Given the description of an element on the screen output the (x, y) to click on. 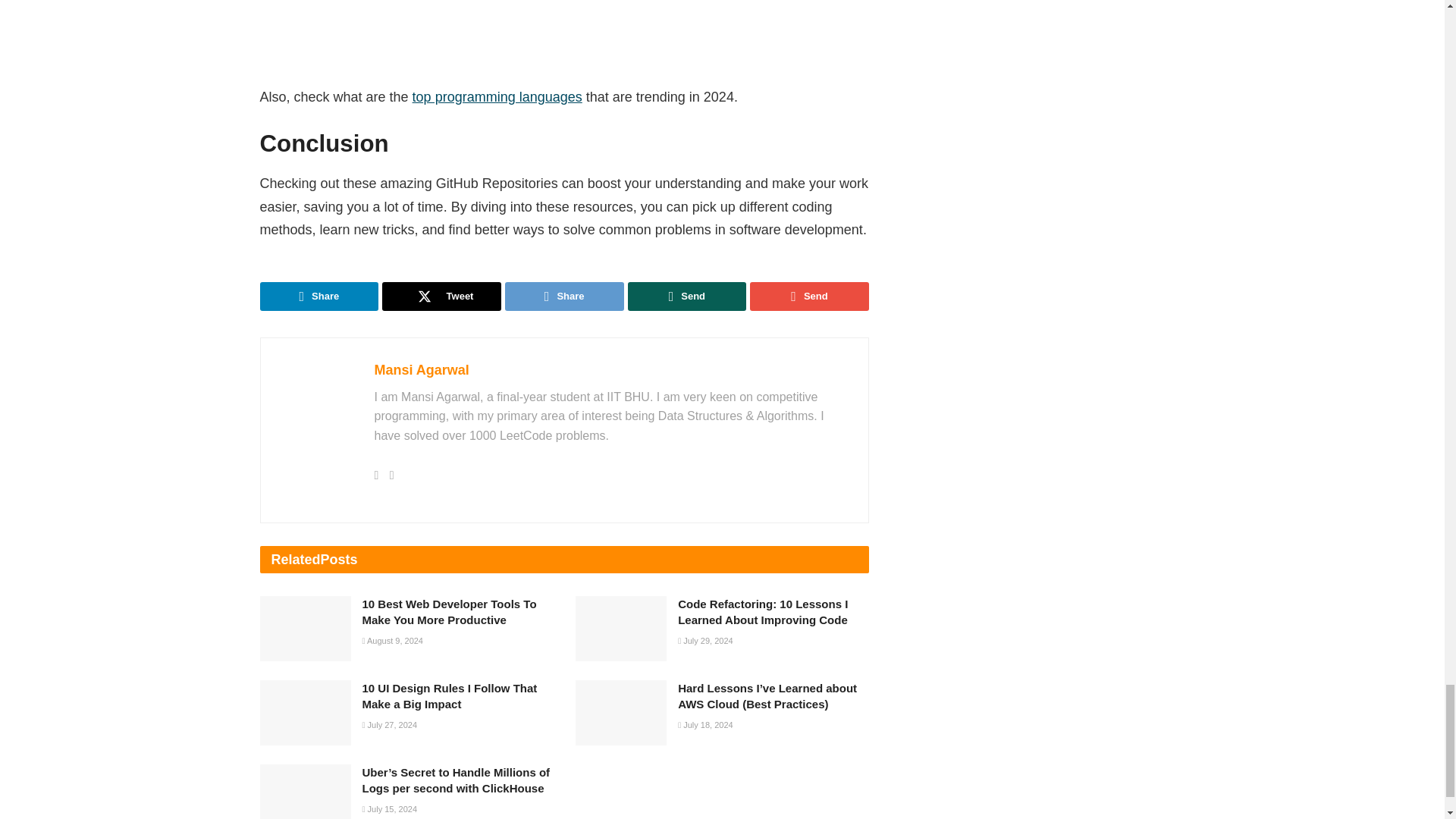
top programming languages (497, 96)
10 Best Web Developer Tools To Make You More Productive (449, 611)
Tweet (440, 296)
Mansi Agarwal (421, 369)
August 9, 2024 (392, 640)
Share (318, 296)
Send (686, 296)
Send (809, 296)
Share (564, 296)
